Given the description of an element on the screen output the (x, y) to click on. 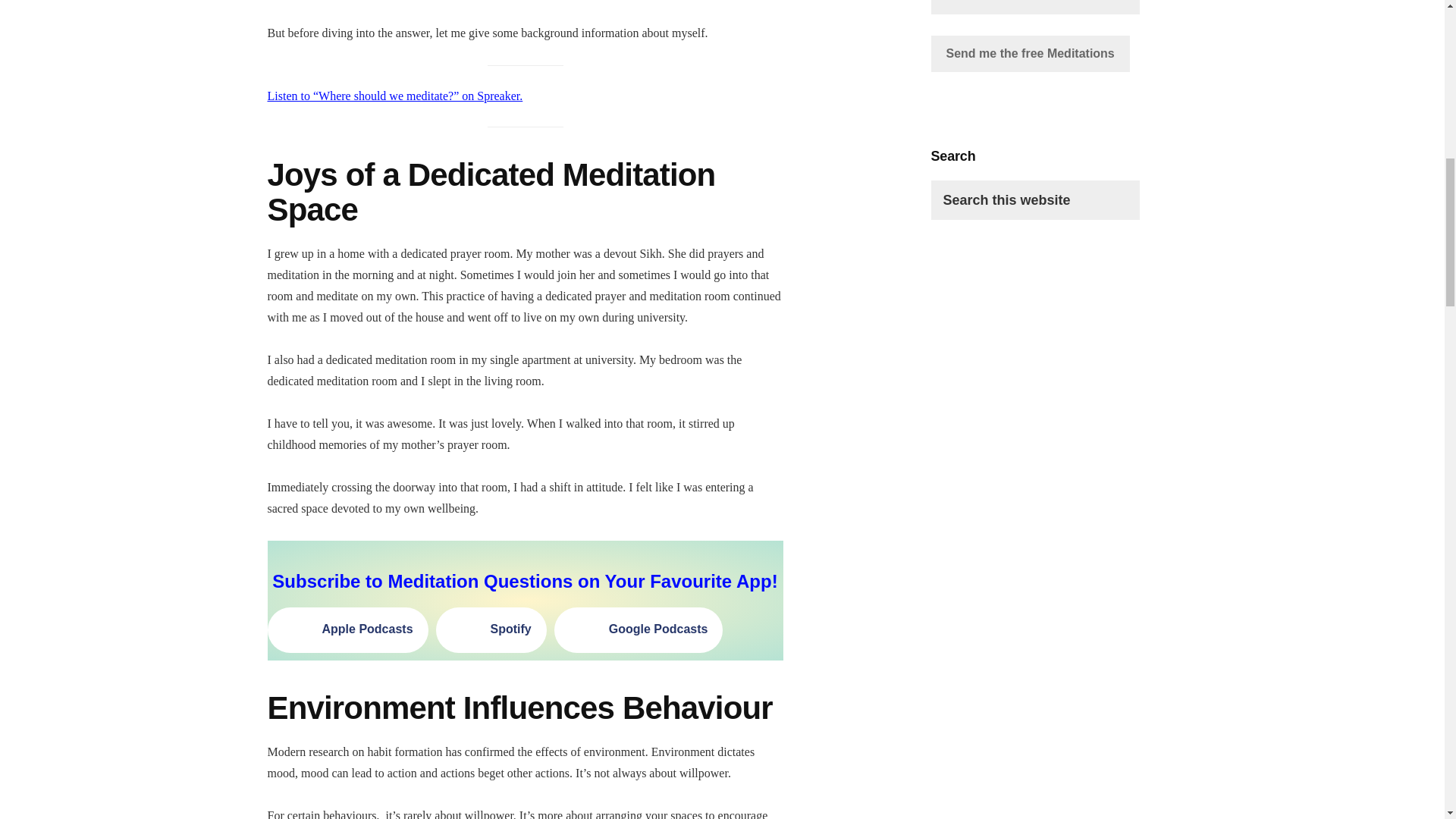
Apple Podcasts (347, 629)
Google Podcasts (638, 629)
Spotify (491, 629)
Send me the free Meditations (1030, 54)
